Given the description of an element on the screen output the (x, y) to click on. 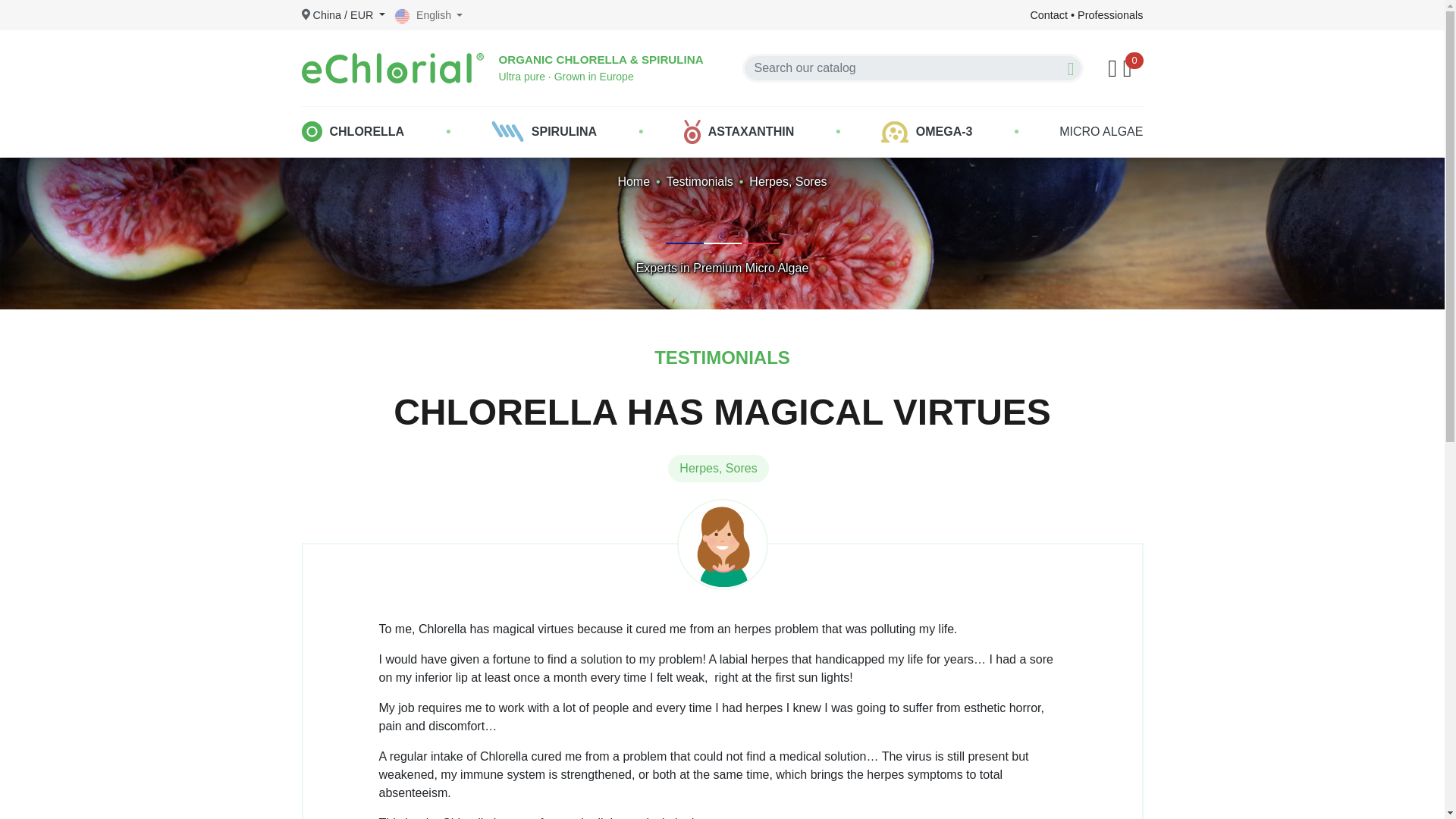
Professionals (1109, 15)
OMEGA-3 (926, 132)
ASTAXANTHIN (738, 132)
CHLORELLA (352, 132)
Contact (1048, 15)
SPIRULINA (543, 132)
English (428, 15)
